Given the description of an element on the screen output the (x, y) to click on. 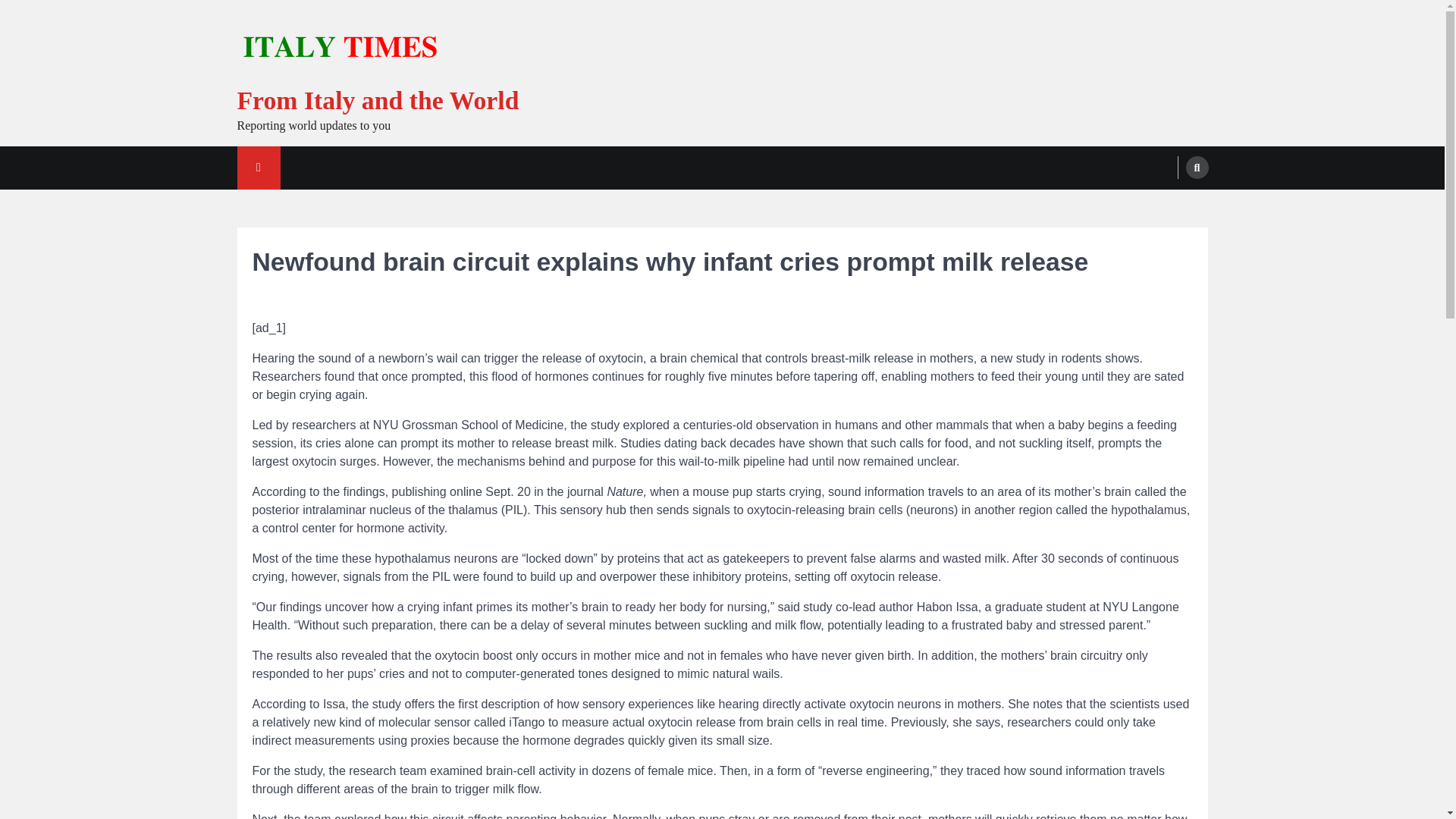
Search (1168, 203)
Search (1197, 167)
From Italy and the World (376, 100)
